Given the description of an element on the screen output the (x, y) to click on. 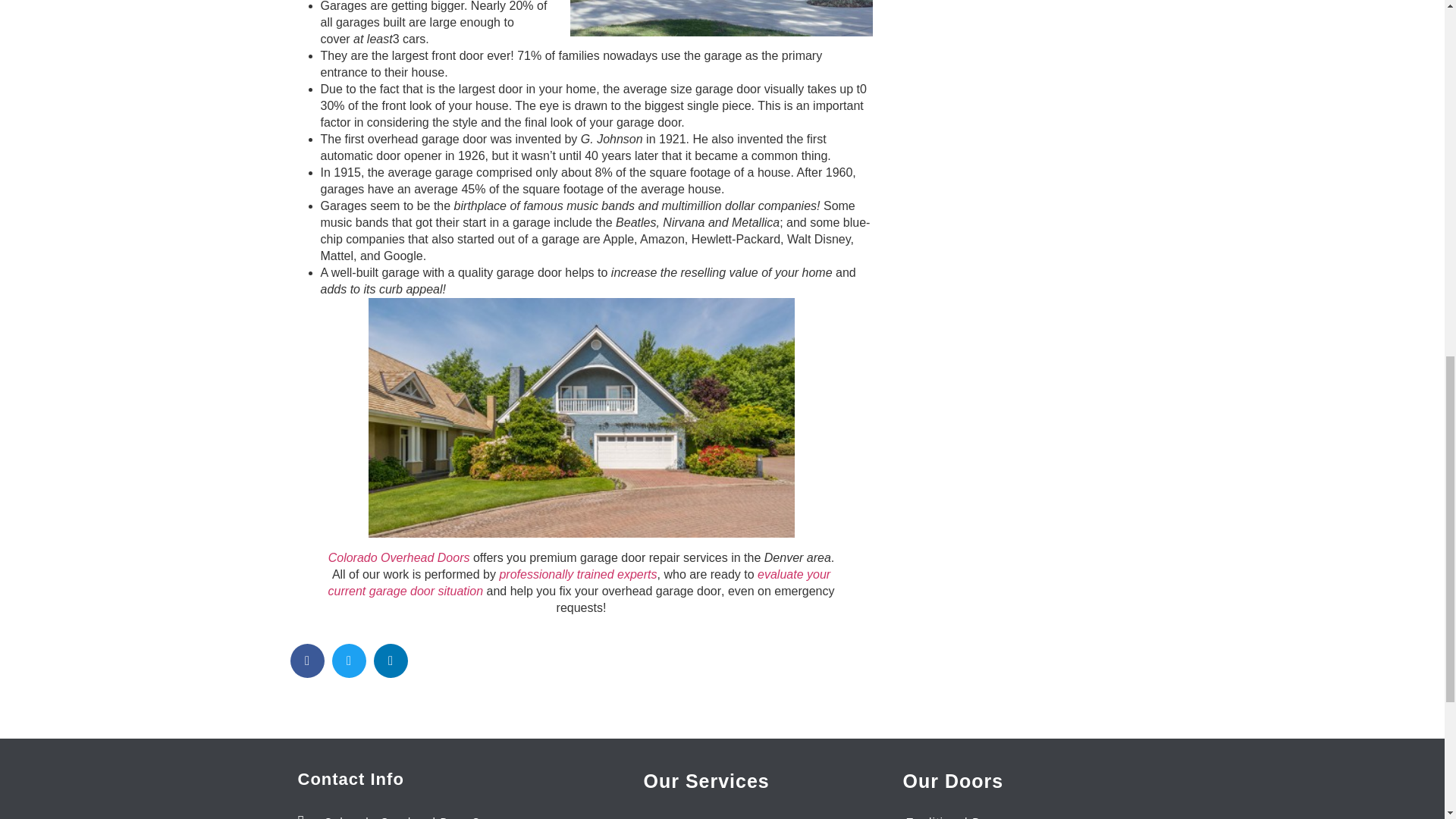
evaluate your current garage door situation (578, 582)
professionally trained experts (577, 574)
Colorado Overhead Doors (399, 557)
